Given the description of an element on the screen output the (x, y) to click on. 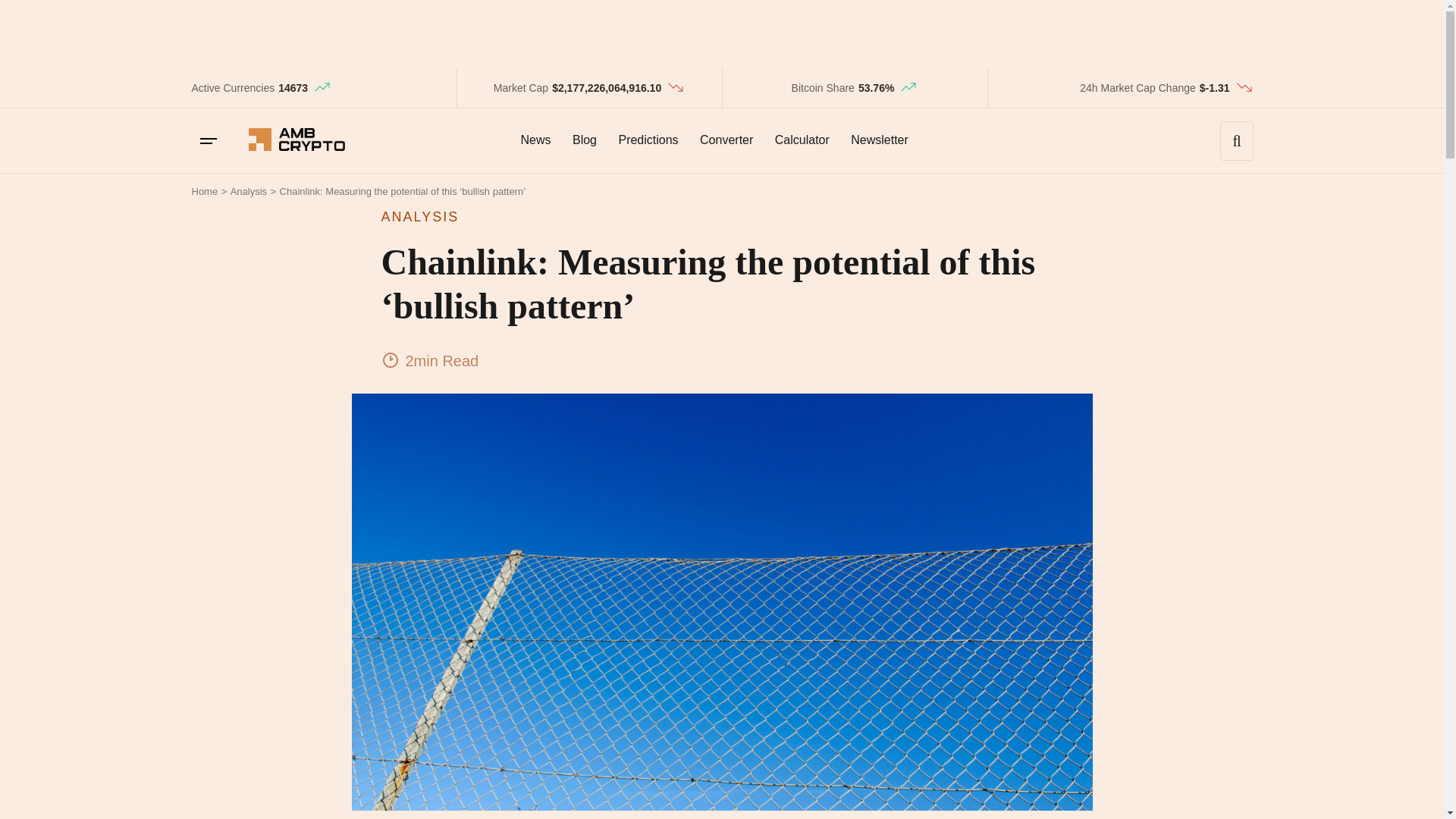
Newsletter (879, 139)
ANALYSIS (721, 216)
Home (203, 191)
News (535, 139)
Predictions (647, 139)
Home (203, 191)
Analysis (248, 191)
Calculator (801, 139)
Converter (725, 139)
Analysis (248, 191)
